Given the description of an element on the screen output the (x, y) to click on. 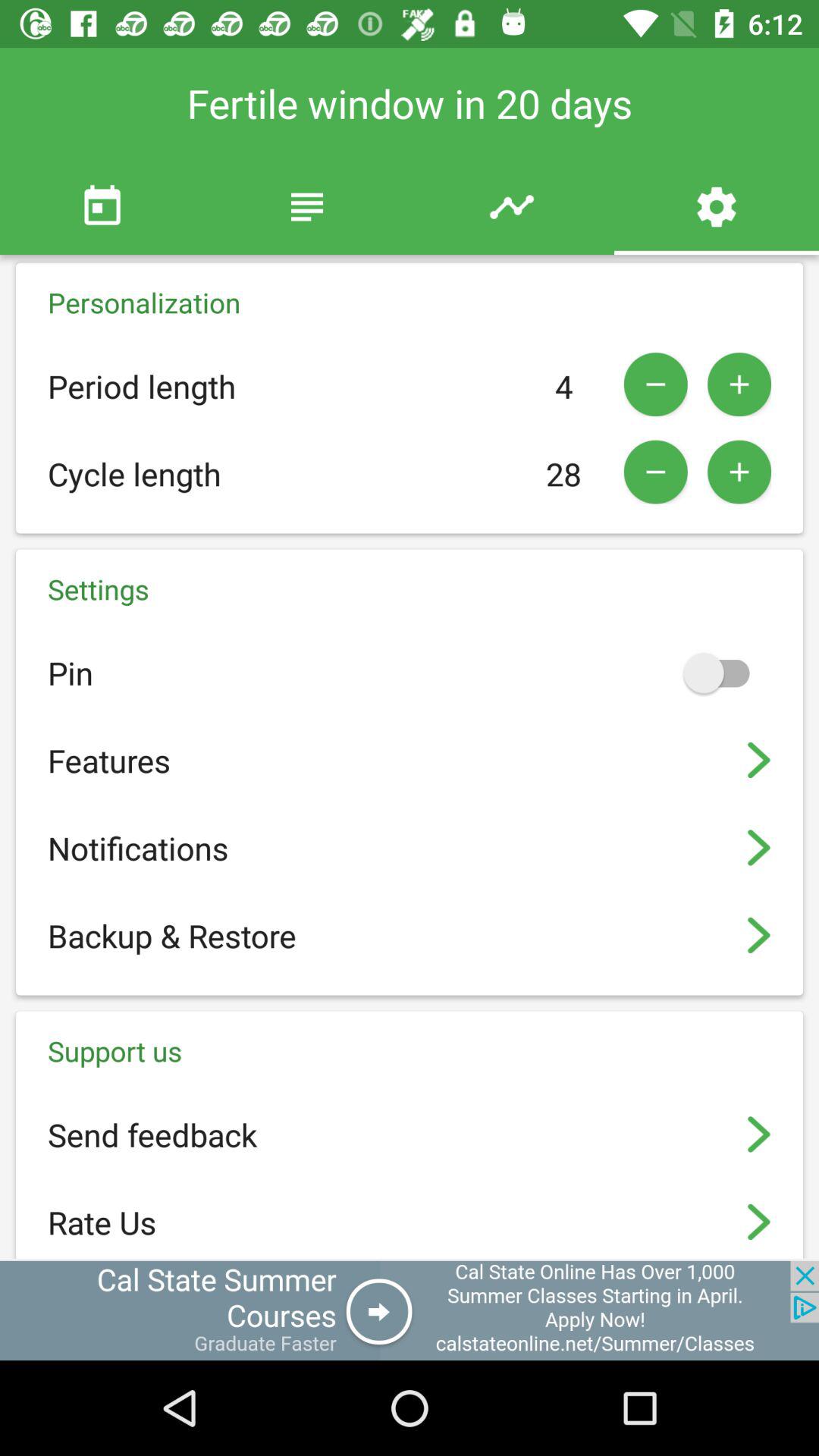
toggle pinning (723, 672)
